Given the description of an element on the screen output the (x, y) to click on. 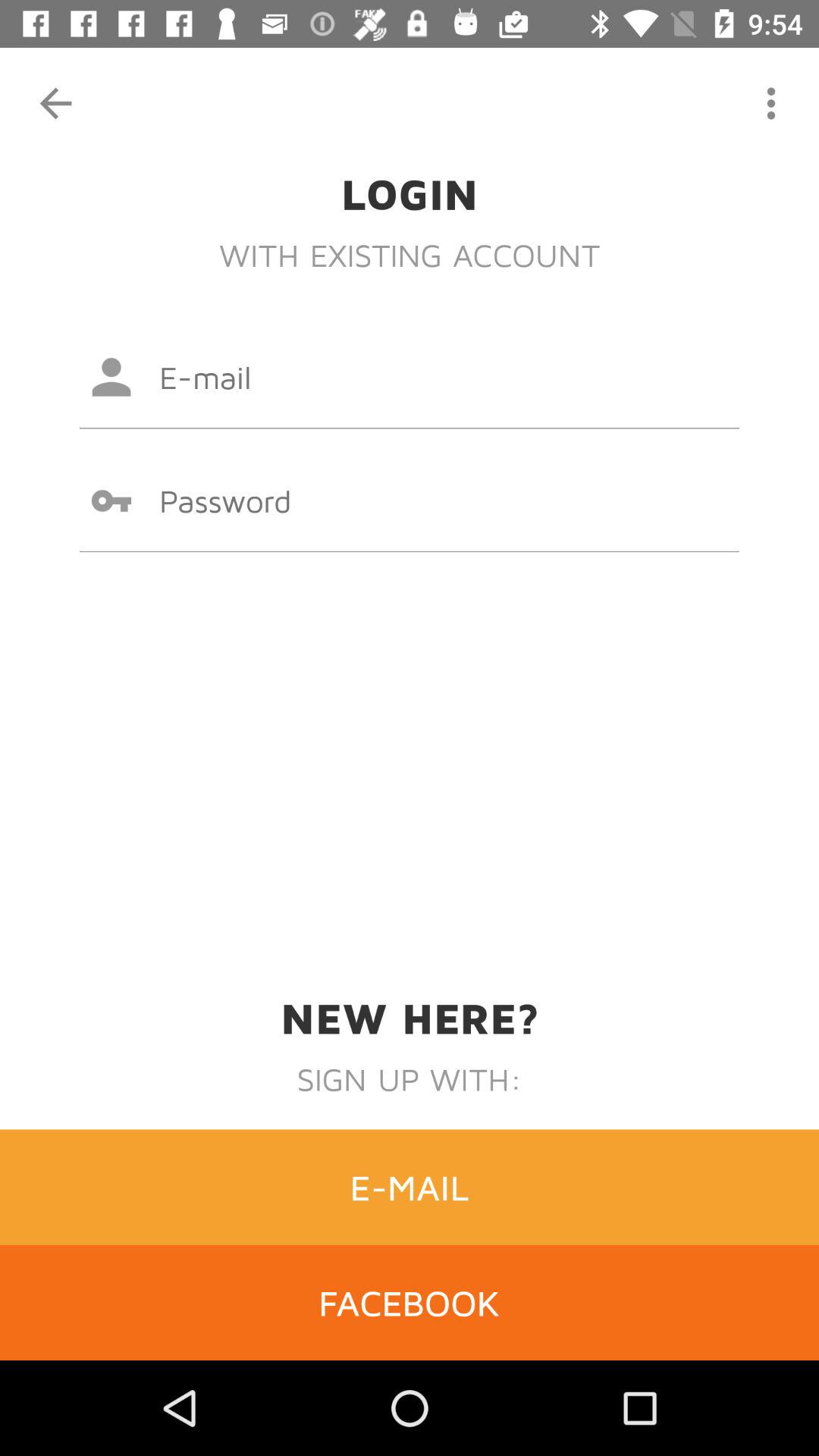
launch icon above the login item (771, 103)
